Given the description of an element on the screen output the (x, y) to click on. 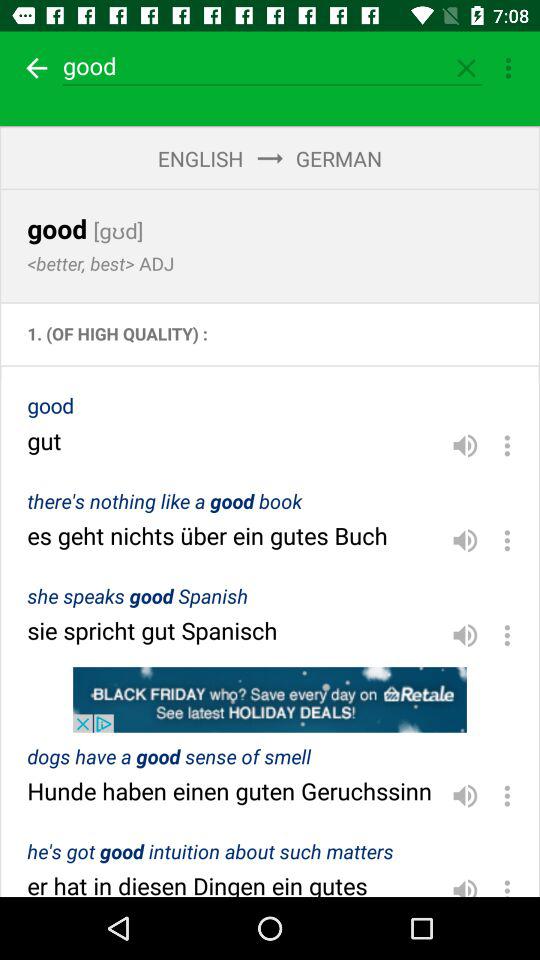
volume button (465, 883)
